Given the description of an element on the screen output the (x, y) to click on. 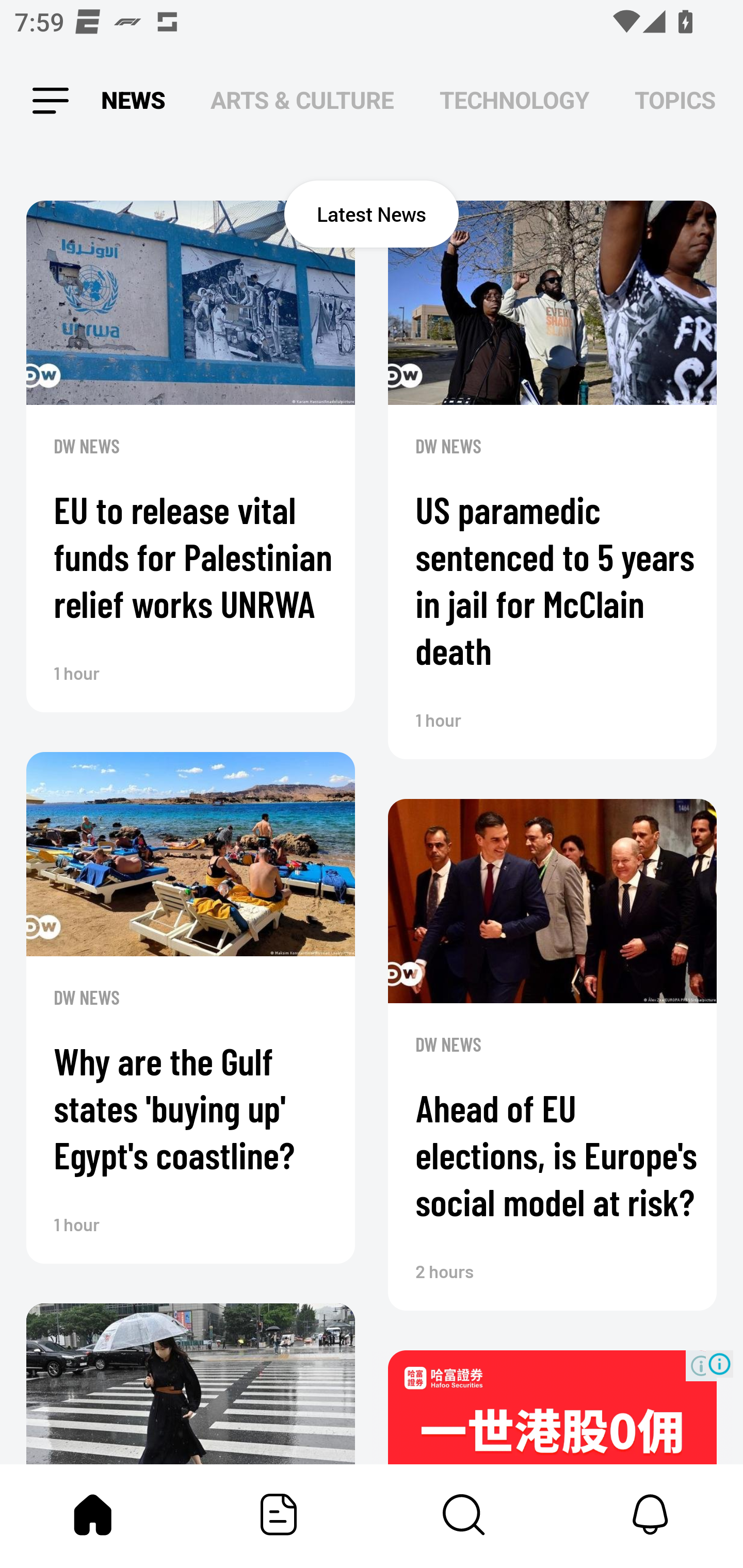
Leading Icon (48, 101)
ARTS & CULTURE (302, 100)
TECHNOLOGY (514, 100)
TOPICS (675, 100)
Latest News (371, 213)
Ad Choices Icon (719, 1364)
Featured (278, 1514)
Content Store (464, 1514)
Notifications (650, 1514)
